Given the description of an element on the screen output the (x, y) to click on. 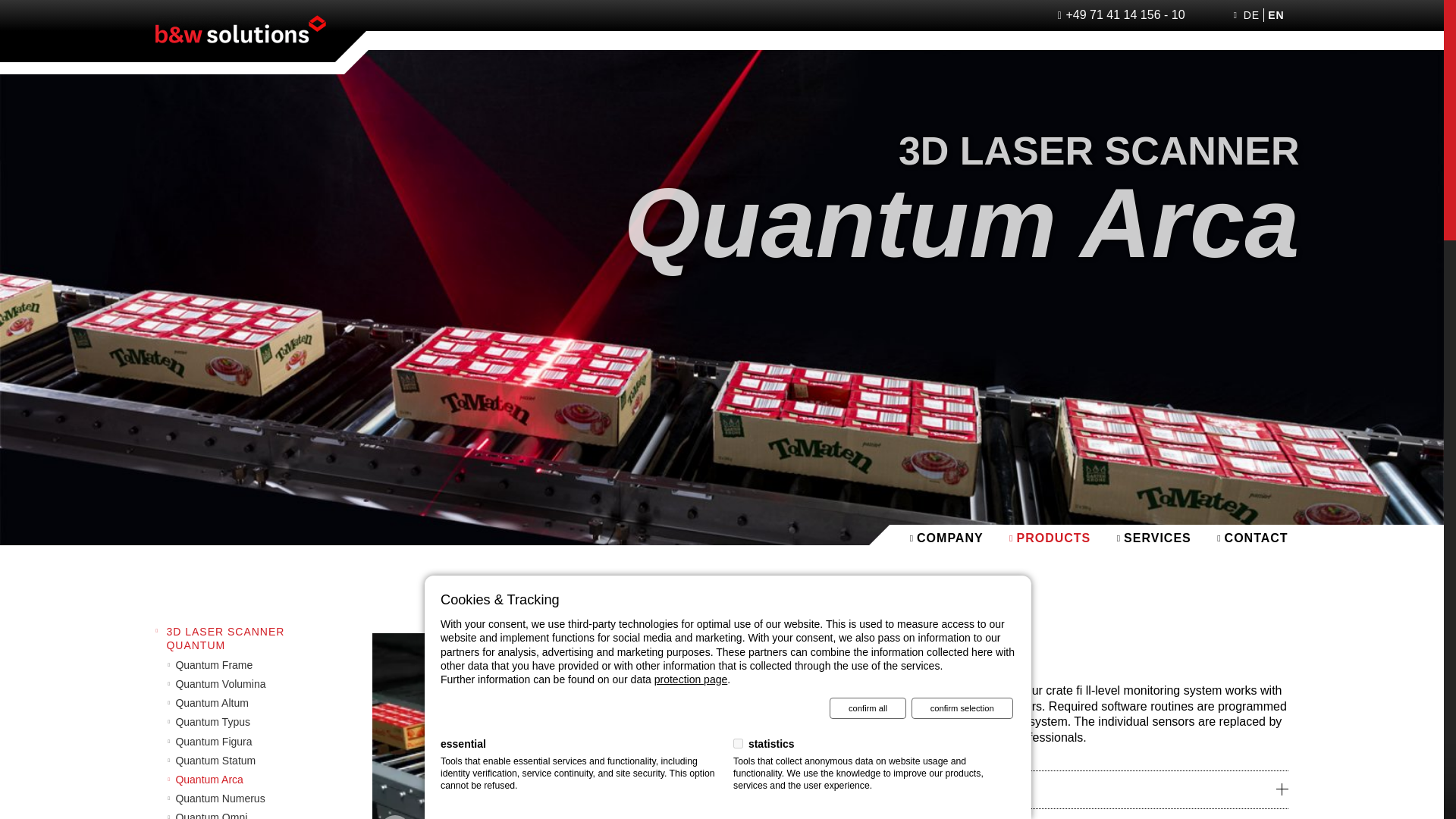
SERVICES (1153, 538)
Laser Scanner and loose fill machines (1049, 538)
CONTACT (1252, 538)
8 (737, 743)
PRODUCTS (1049, 538)
COMPANY (947, 538)
DE (1251, 15)
